Given the description of an element on the screen output the (x, y) to click on. 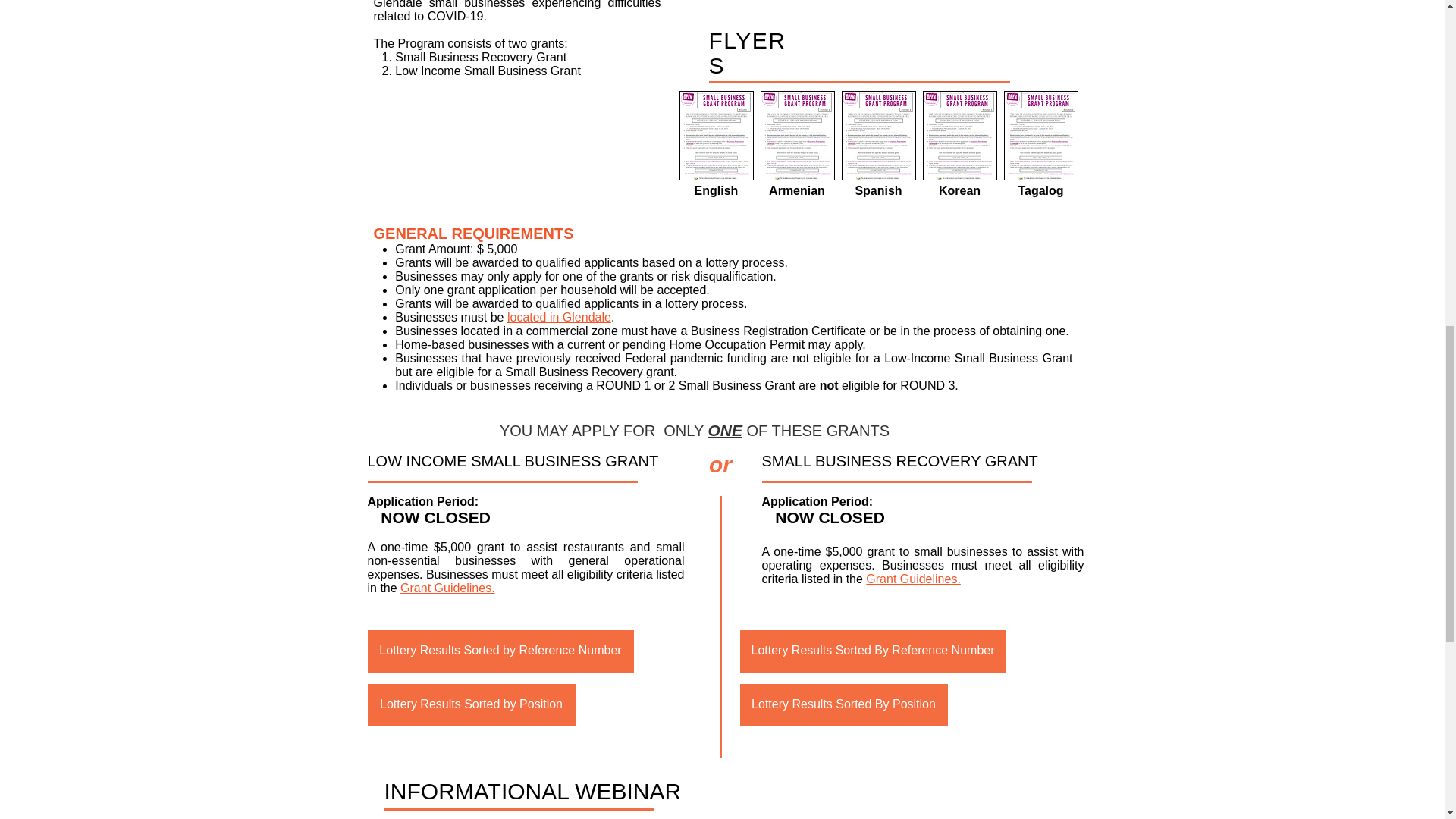
Grant Guidelines. (447, 586)
Armenian (796, 189)
English (716, 189)
Korean (959, 189)
Tagalog (1039, 189)
Grant Guidelines. (913, 577)
located in Glendale (558, 317)
Spanish (877, 189)
